Given the description of an element on the screen output the (x, y) to click on. 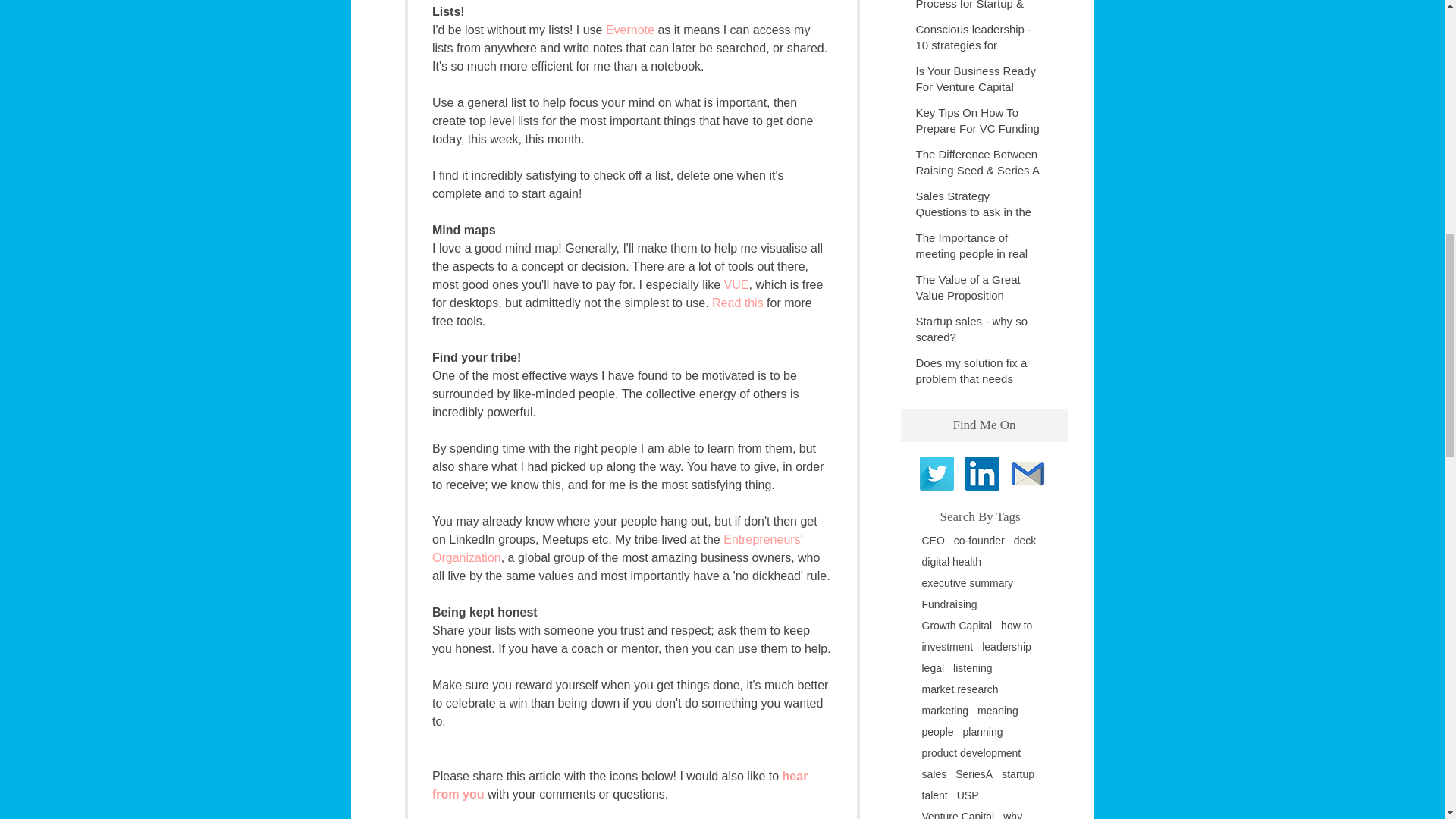
VUE (735, 284)
Conscious leadership - 10 strategies for founders (978, 48)
Is Your Business Ready For Venture Capital Investment? (978, 90)
Evernote (629, 29)
Startup sales - why so scared? (978, 331)
CEO (932, 540)
hear from you (621, 784)
Read this (736, 302)
Sales Strategy Questions to ask in the New World (978, 214)
Does my solution fix a problem that needs fixing? (978, 381)
